Given the description of an element on the screen output the (x, y) to click on. 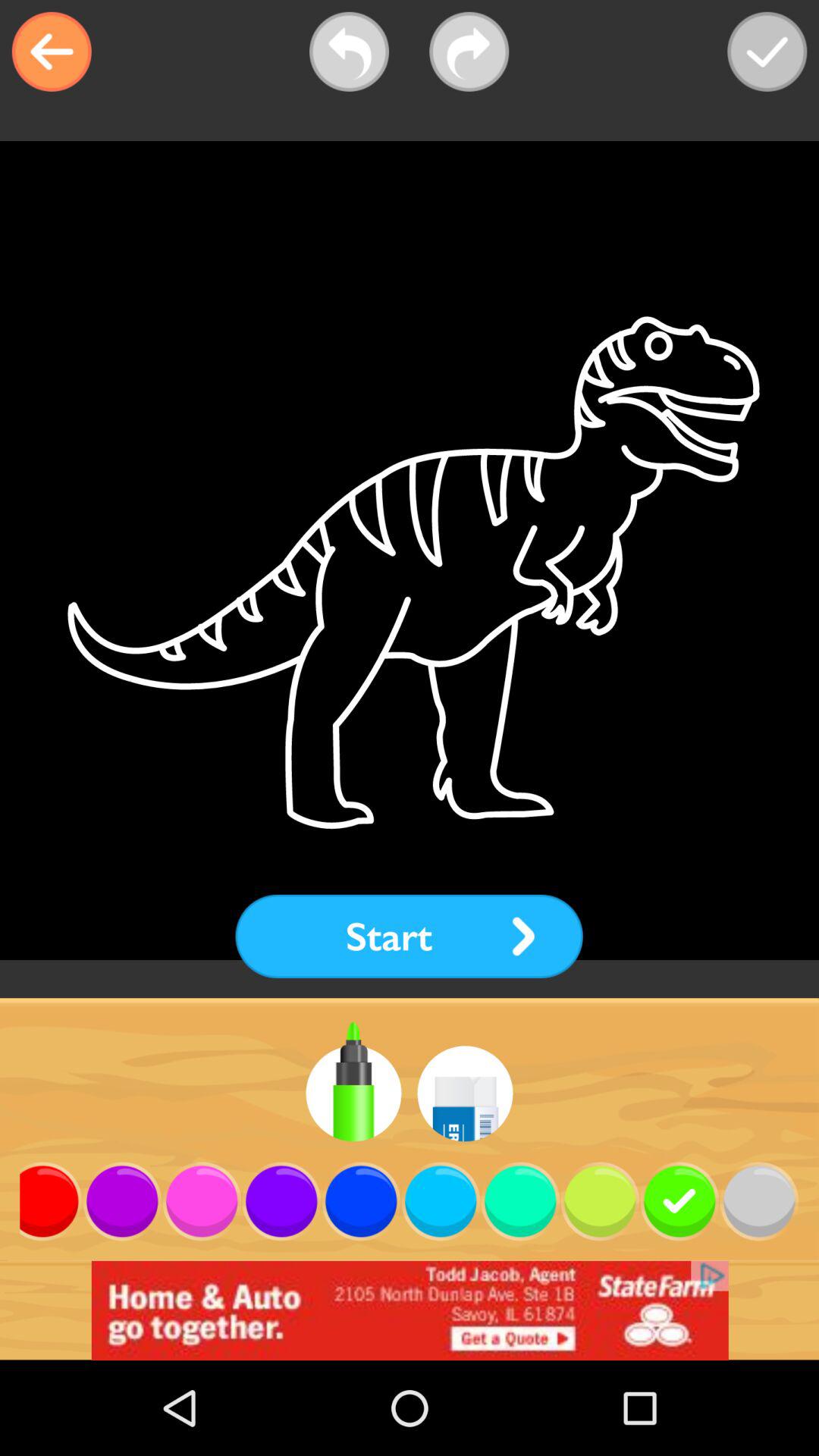
go to next (469, 51)
